Given the description of an element on the screen output the (x, y) to click on. 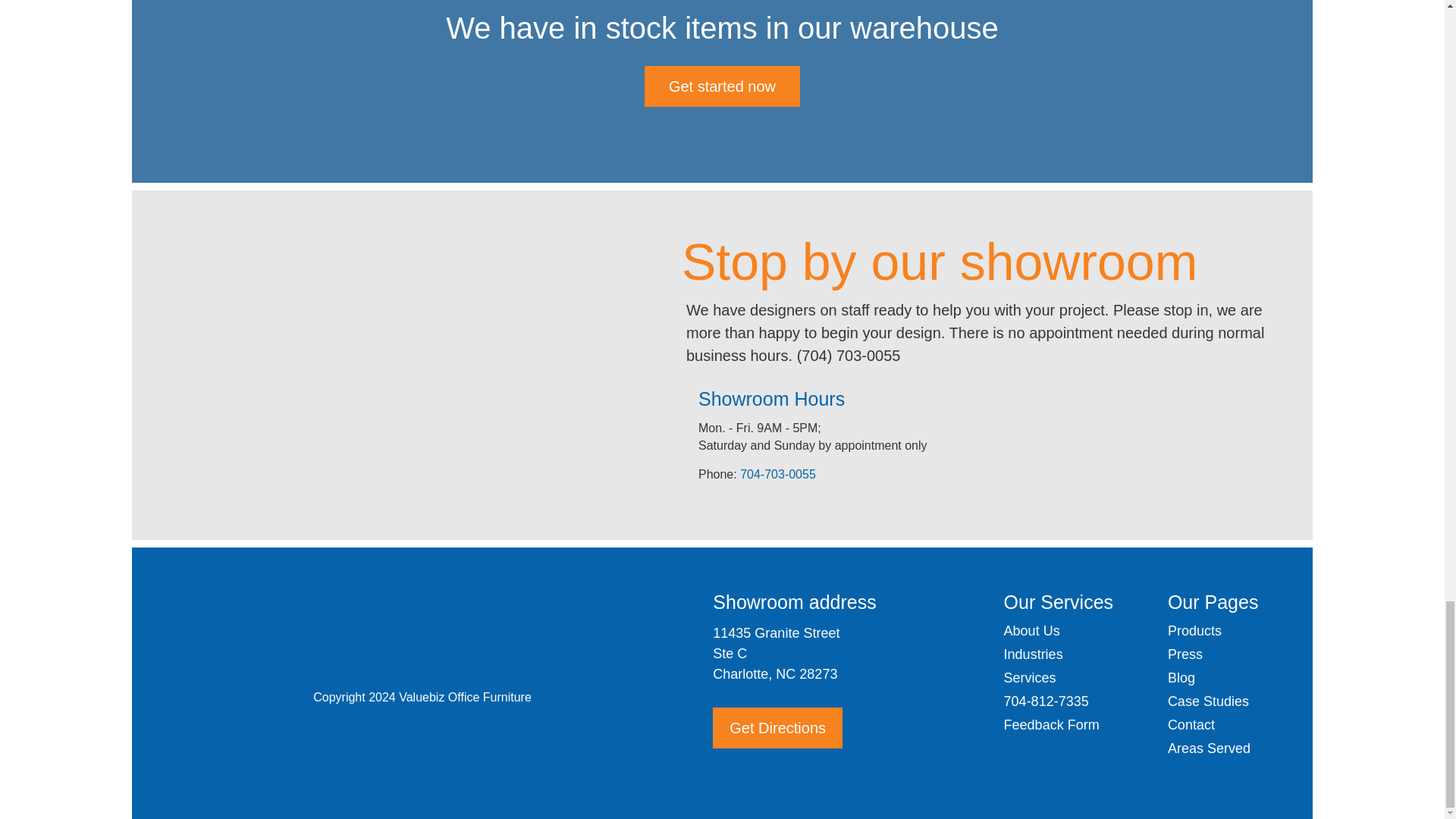
704-703-0055 (778, 473)
Blog (1181, 677)
Products (1194, 630)
Get Directions (778, 727)
Press (1184, 654)
Contact (1190, 724)
Get started now (722, 86)
Areas Served (1208, 748)
Industries (1033, 654)
Services (1030, 677)
About Us (1031, 630)
704-812-7335 (1046, 701)
Feedback Form (1051, 724)
Case Studies (1208, 701)
